Given the description of an element on the screen output the (x, y) to click on. 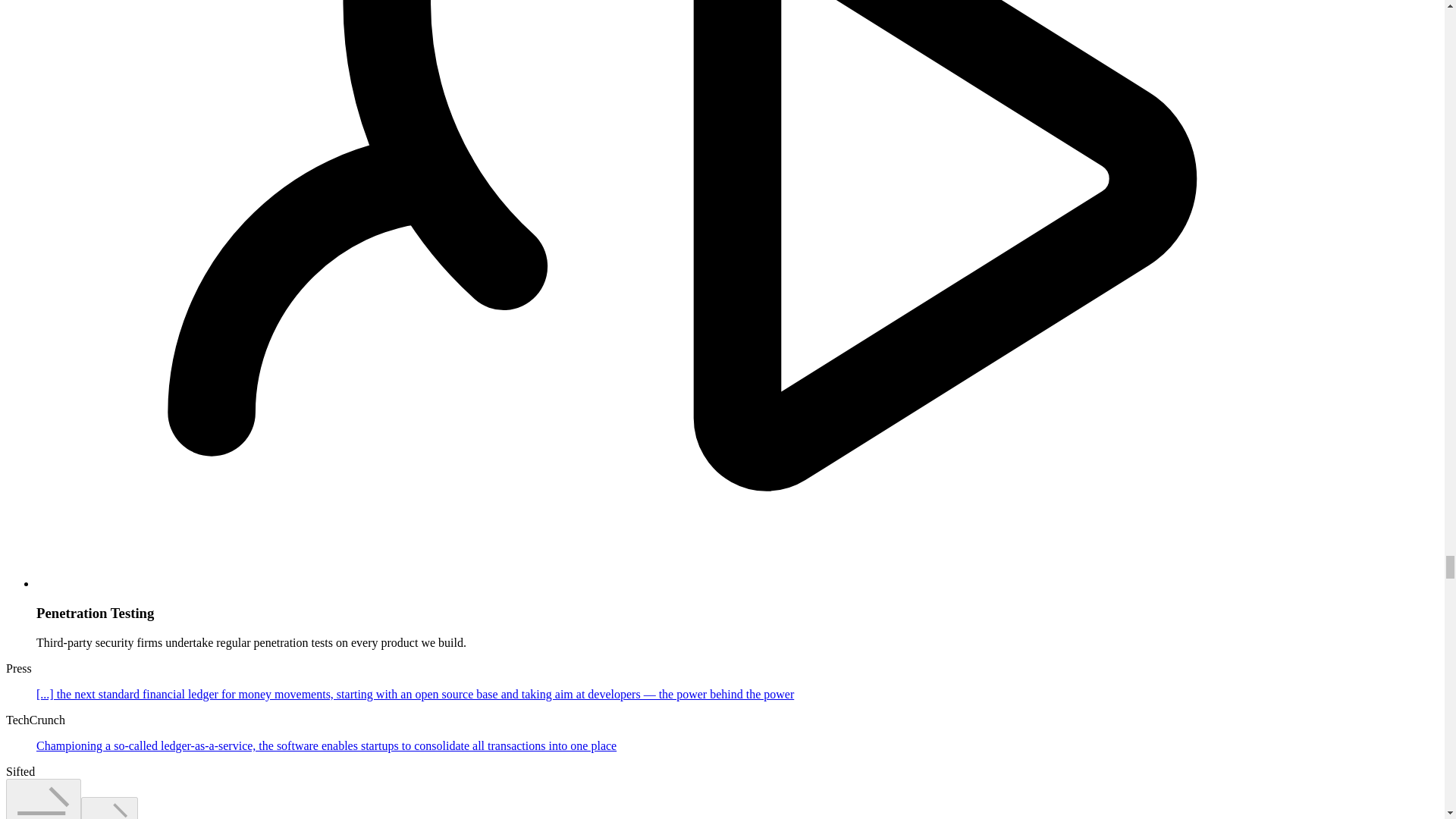
Previous slide (43, 798)
Next slide (109, 807)
